Given the description of an element on the screen output the (x, y) to click on. 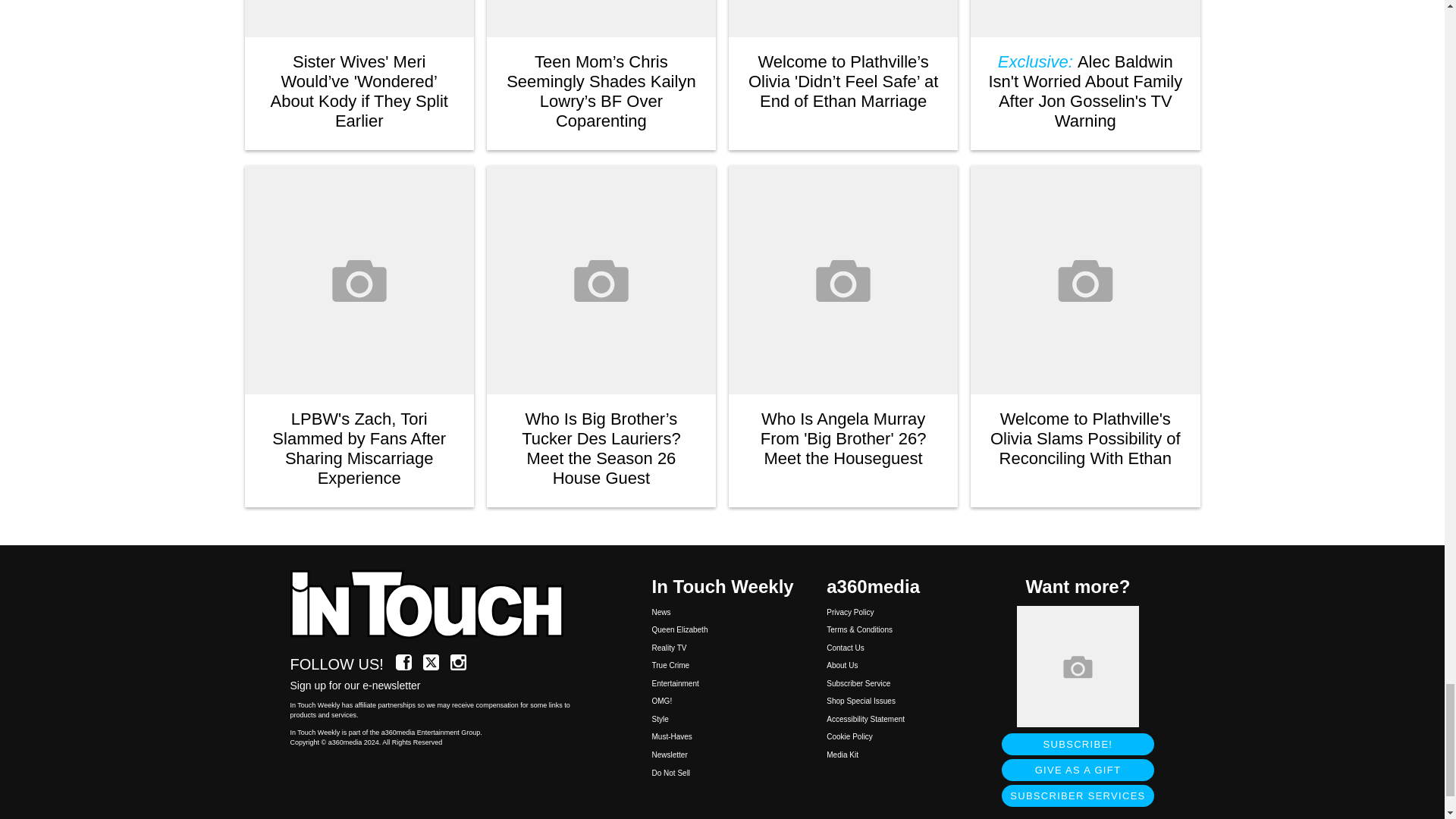
Home (434, 605)
